Given the description of an element on the screen output the (x, y) to click on. 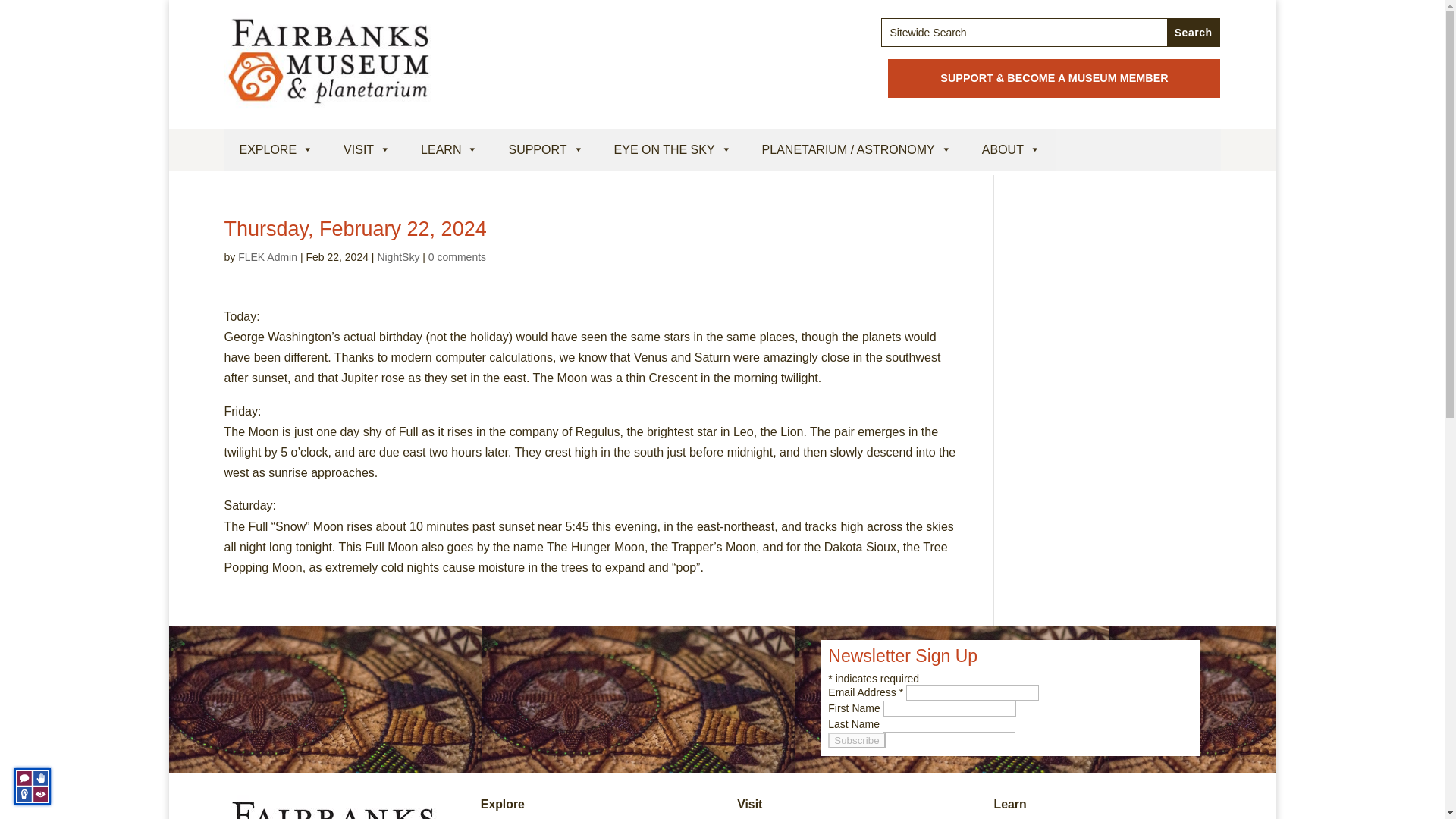
Search (1193, 31)
Search (1193, 31)
LEARN (449, 149)
Launch Accessibility Center (32, 785)
Posts by FLEK Admin (267, 256)
EYE ON THE SKY (672, 149)
Search (1193, 31)
Subscribe (856, 740)
EXPLORE (276, 149)
SUPPORT (545, 149)
VISIT (367, 149)
